Given the description of an element on the screen output the (x, y) to click on. 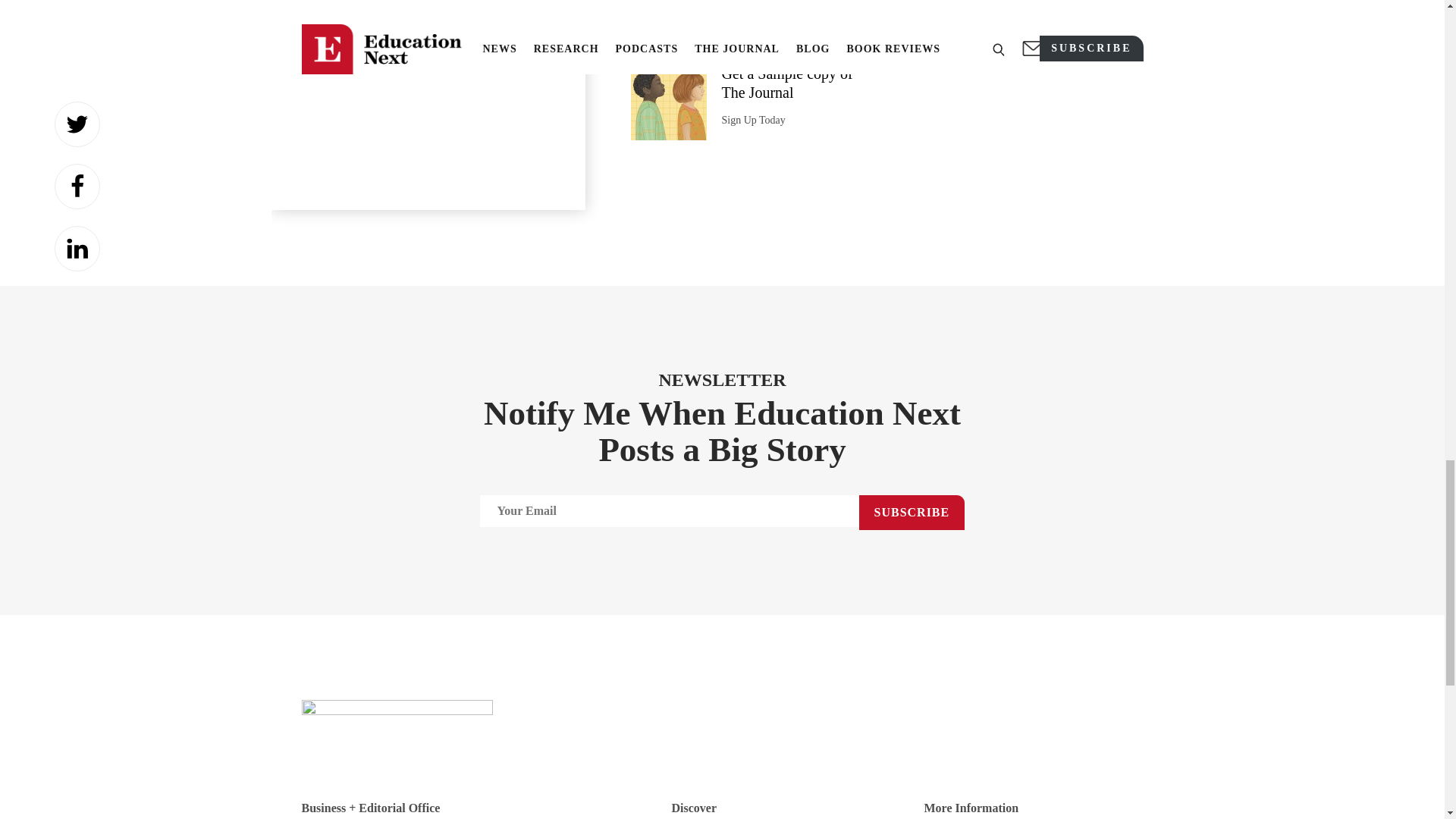
Sign Up Today (754, 120)
SUBSCRIBE (911, 512)
